Given the description of an element on the screen output the (x, y) to click on. 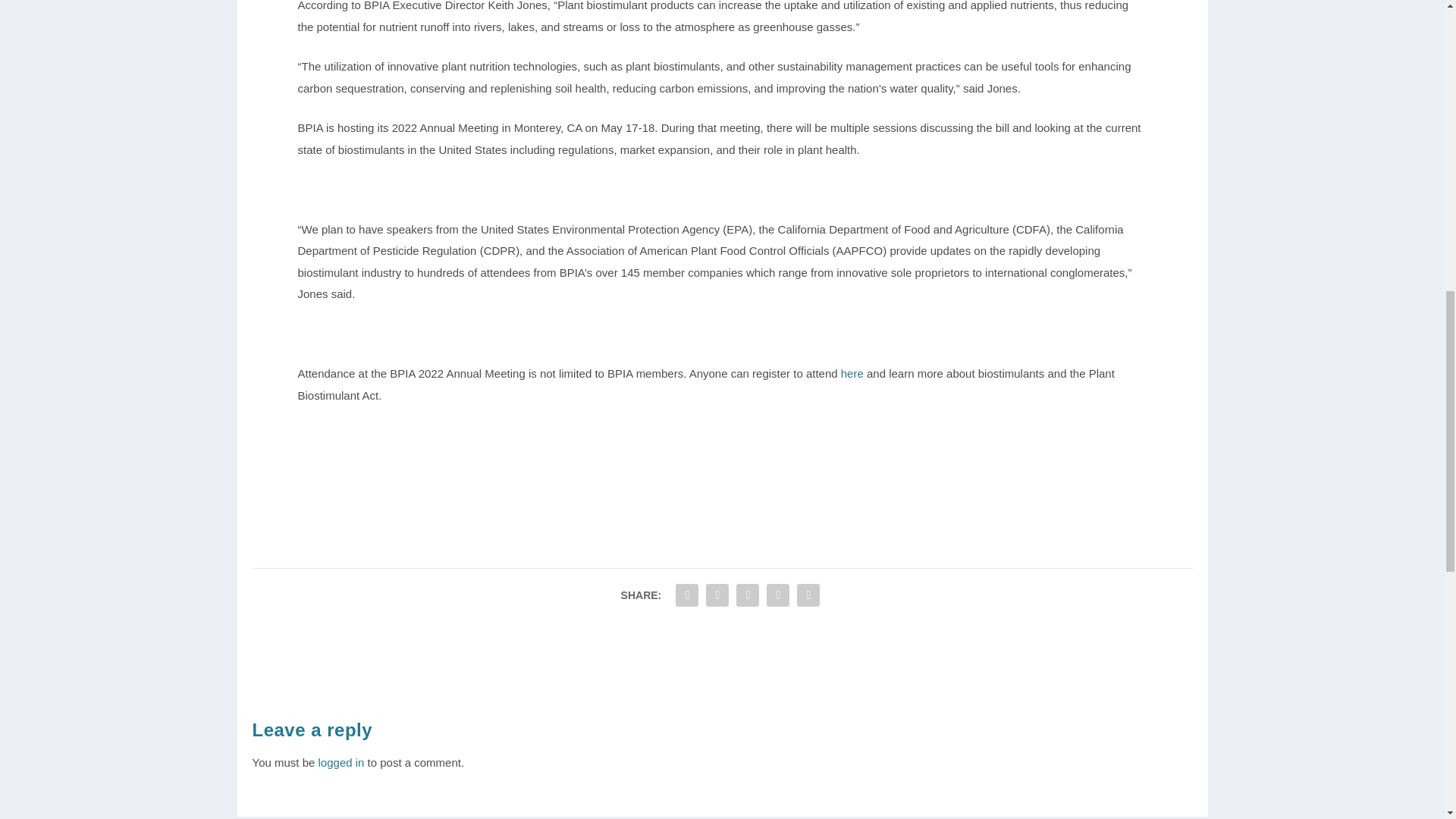
Share "BPIA Supports Biostimulant Act" via LinkedIn (747, 594)
Share "BPIA Supports Biostimulant Act" via Print (808, 594)
Share "BPIA Supports Biostimulant Act" via Twitter (716, 594)
Share "BPIA Supports Biostimulant Act" via Facebook (686, 594)
Share "BPIA Supports Biostimulant Act" via Email (777, 594)
